Given the description of an element on the screen output the (x, y) to click on. 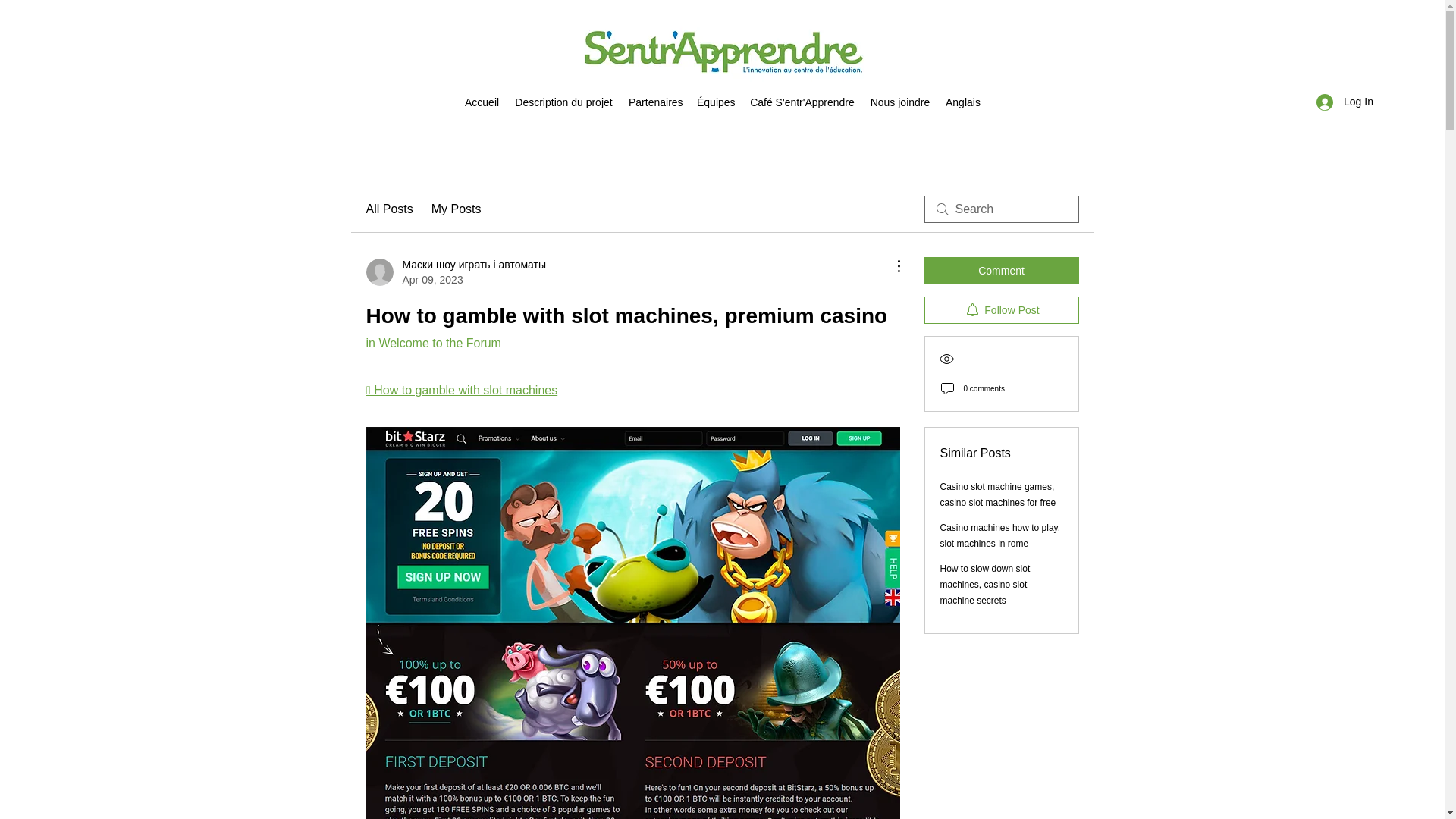
All Posts (388, 208)
Partenaires (654, 101)
Nous joindre (899, 101)
Casino slot machine games, casino slot machines for free (998, 494)
Accueil (481, 101)
Casino machines how to play, slot machines in rome (1000, 535)
Description du projet (563, 101)
Log In (1345, 101)
Anglais (962, 101)
Follow Post (1000, 309)
